Given the description of an element on the screen output the (x, y) to click on. 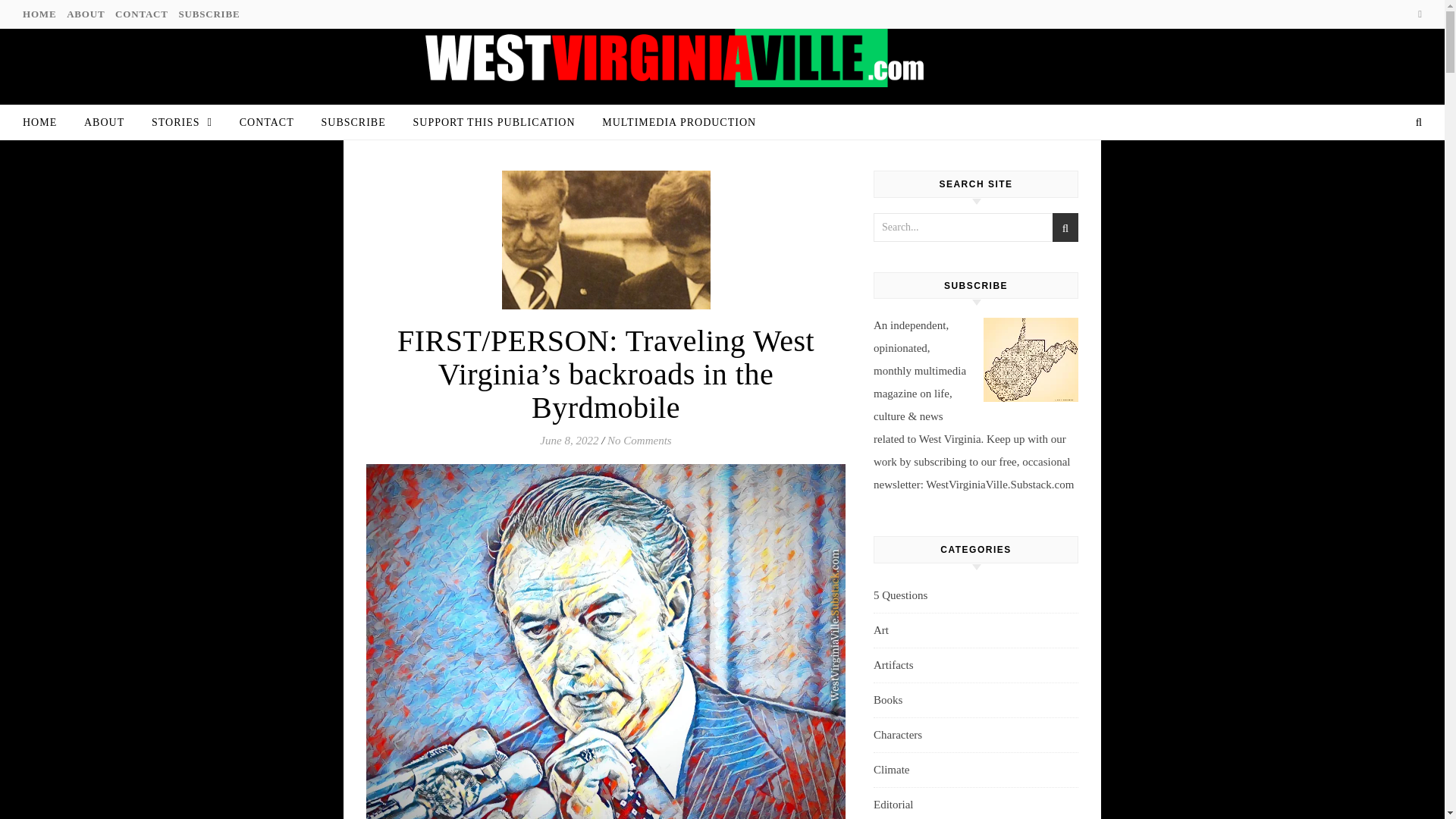
STORIES (181, 122)
SUPPORT THIS PUBLICATION (493, 122)
SUBSCRIBE (352, 122)
ABOUT (103, 122)
ABOUT (84, 13)
HOME (45, 122)
MULTIMEDIA PRODUCTION (672, 122)
CONTACT (141, 13)
CONTACT (266, 122)
SUBSCRIBE (207, 13)
